Given the description of an element on the screen output the (x, y) to click on. 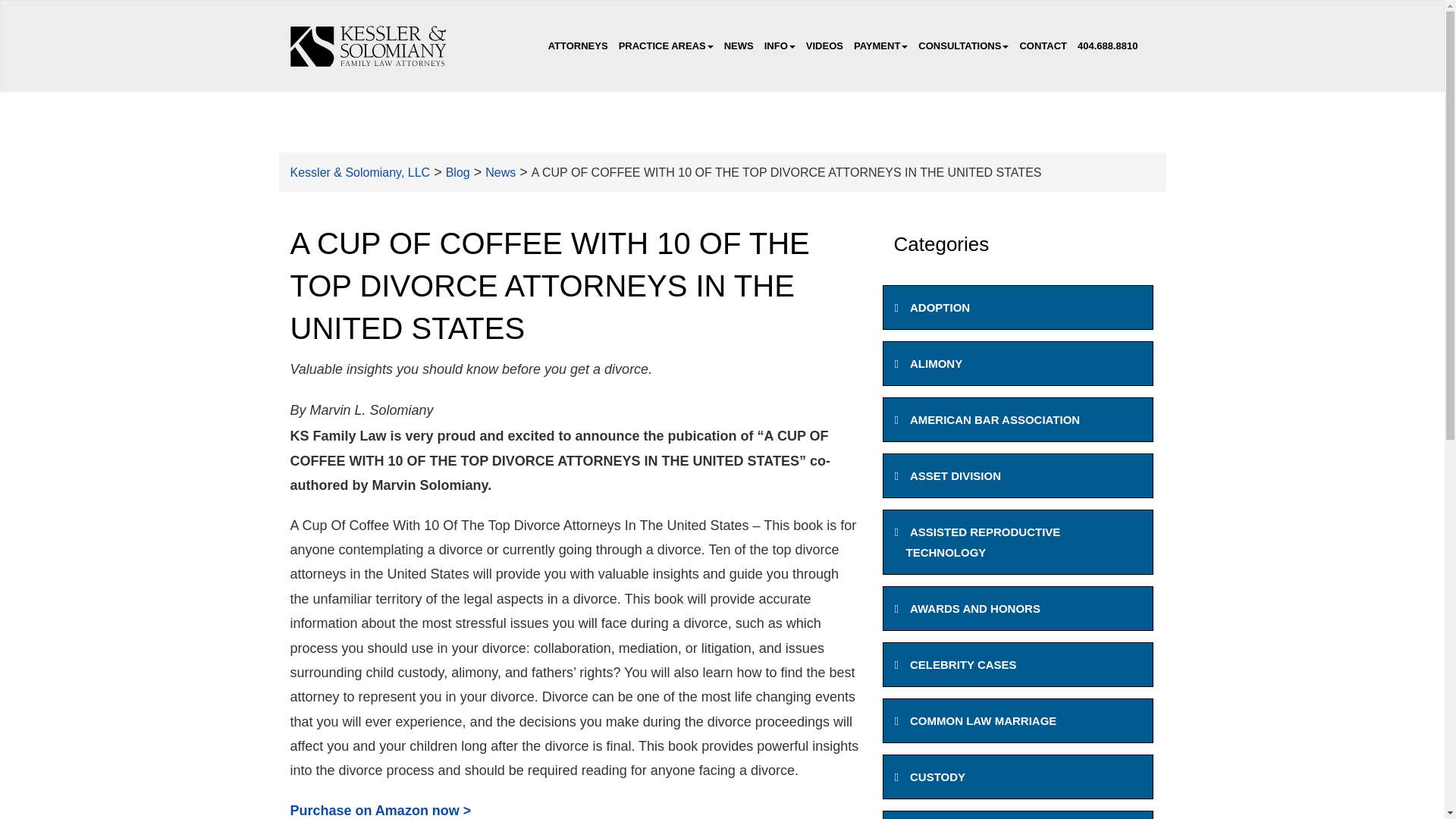
PRACTICE AREAS (665, 46)
PAYMENT (880, 46)
INFO (779, 46)
Go to Blog. (457, 172)
ATTORNEYS (577, 46)
NEWS (738, 46)
Go to the News Category archives. (499, 172)
VIDEOS (824, 46)
